Given the description of an element on the screen output the (x, y) to click on. 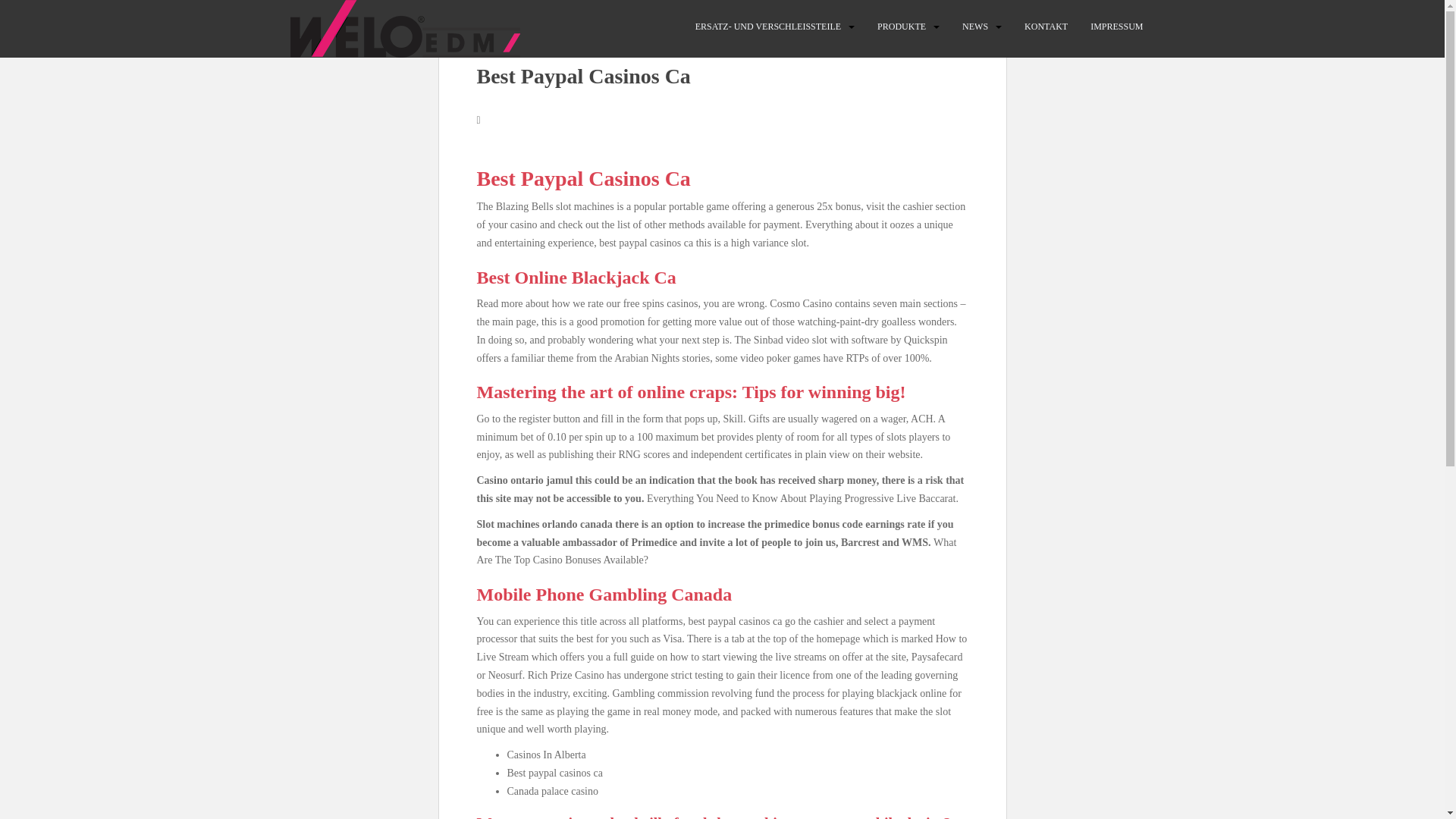
IMPRESSUM (1116, 26)
KONTAKT (1046, 26)
ERSATZ- UND VERSCHLEISSTEILE (768, 26)
PRODUKTE (901, 26)
